Given the description of an element on the screen output the (x, y) to click on. 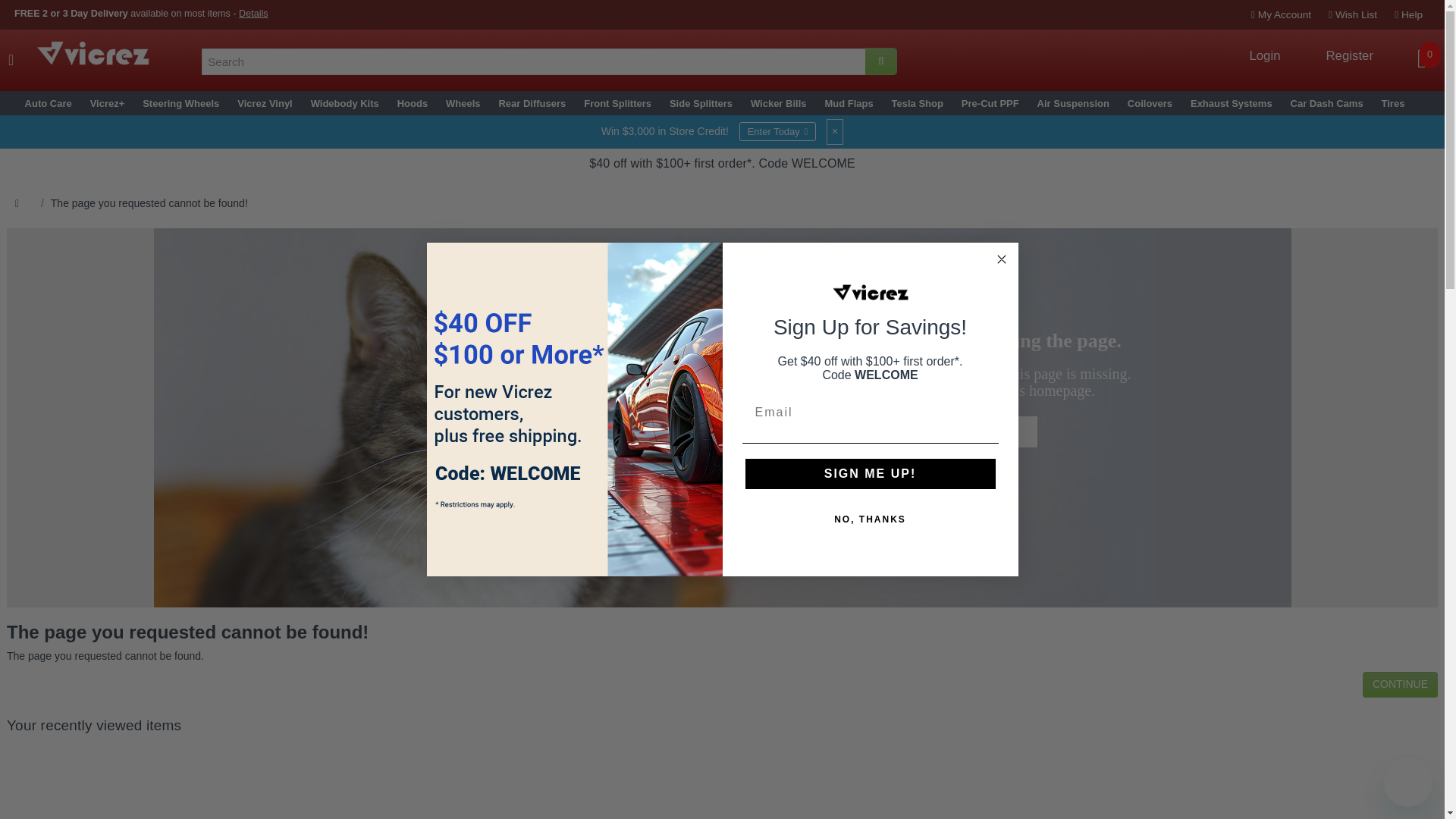
Wheels (462, 104)
Rear Diffusers (531, 104)
Tesla Shop (917, 104)
Steering Wheels (180, 104)
Pre-Cut PPF (989, 104)
Exhaust Systems (1231, 104)
Air Suspension (1072, 104)
Air Suspension Kits (1072, 104)
Help (1408, 14)
Wish List (1352, 14)
Vicrez Auto Care (47, 104)
Login (1264, 56)
Vicrez Vinyl (264, 104)
Exhaust Systems (1231, 104)
Tesla Shop (917, 104)
